Given the description of an element on the screen output the (x, y) to click on. 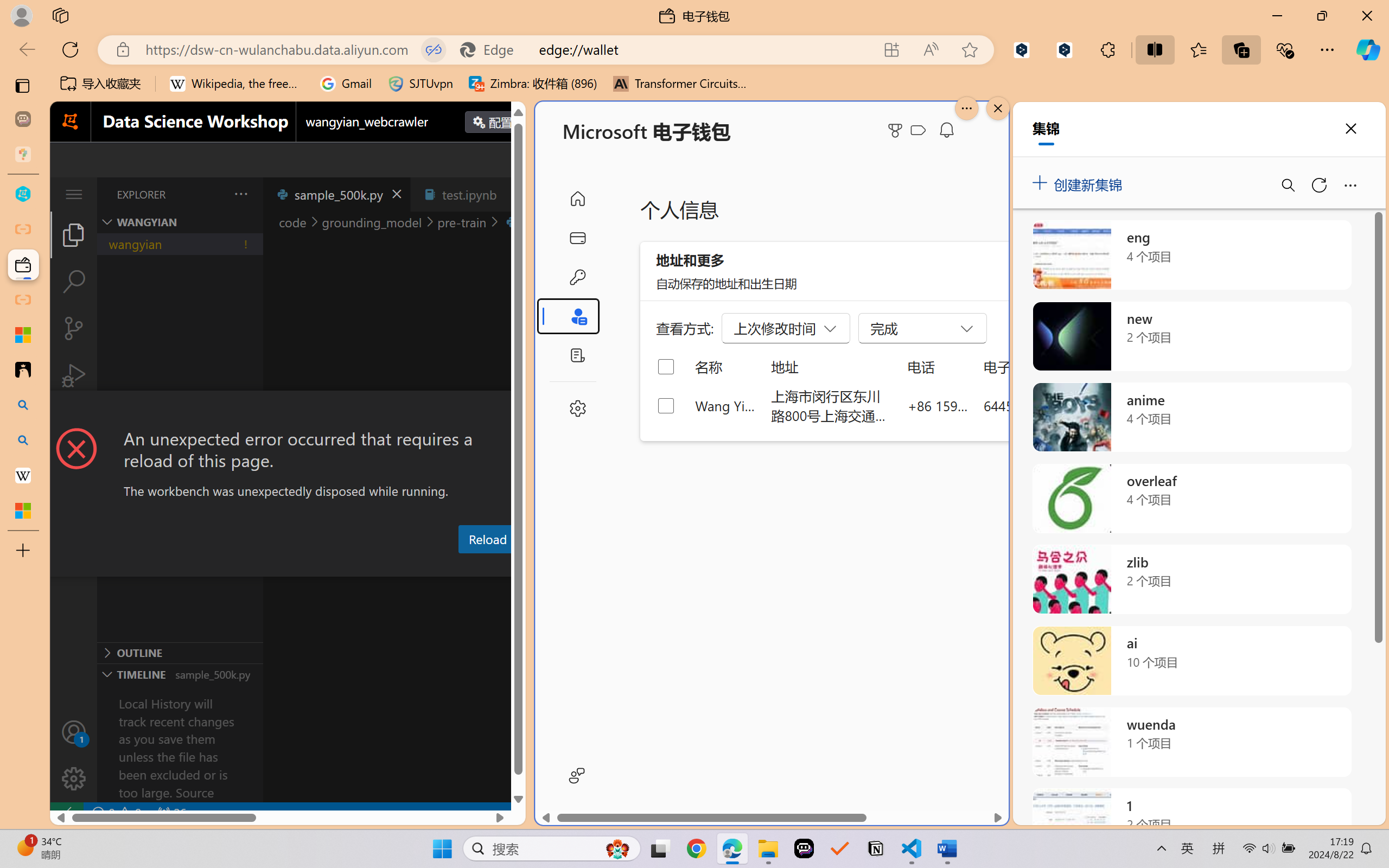
Microsoft Rewards (896, 129)
Explorer (Ctrl+Shift+E) (73, 234)
Application Menu (73, 194)
Copilot (Ctrl+Shift+.) (1368, 49)
Reload (486, 538)
Microsoft Cashback (920, 130)
